Given the description of an element on the screen output the (x, y) to click on. 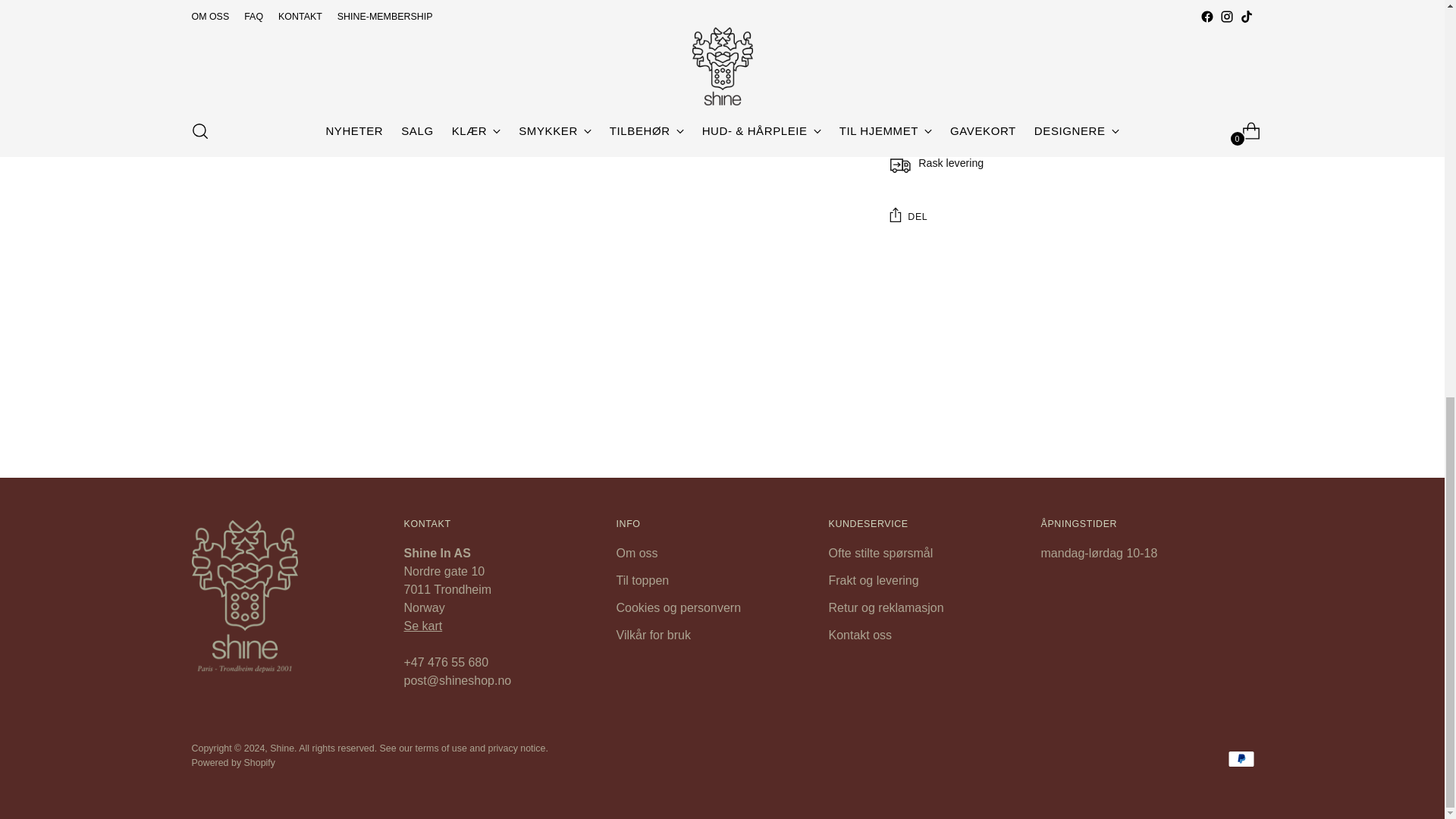
Down (220, 10)
